Given the description of an element on the screen output the (x, y) to click on. 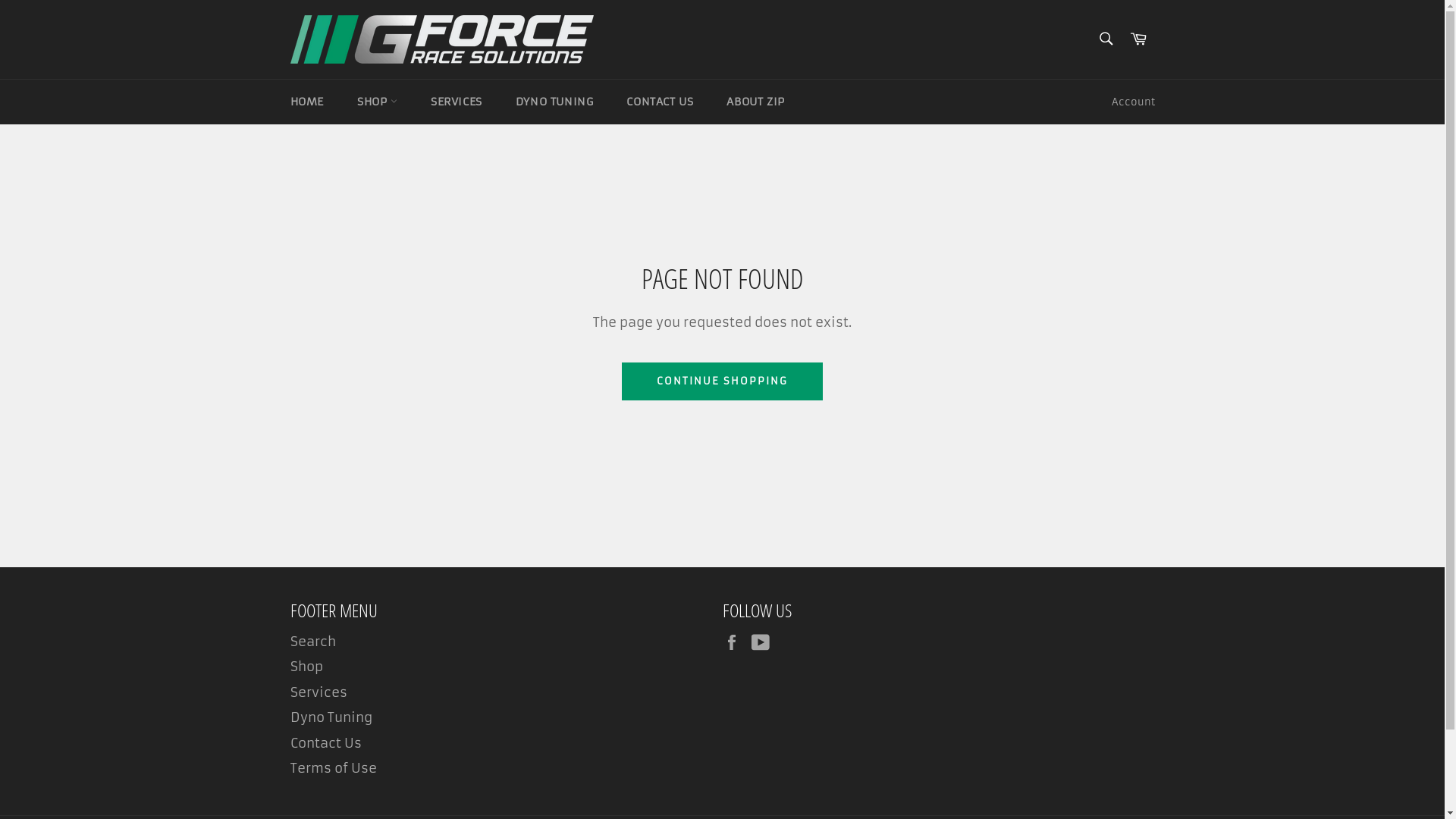
Search Element type: text (1105, 38)
CONTACT US Element type: text (659, 101)
CONTINUE SHOPPING Element type: text (721, 381)
Cart Element type: text (1138, 39)
SHOP Element type: text (377, 101)
Contact Us Element type: text (324, 742)
Facebook Element type: text (734, 642)
Terms of Use Element type: text (332, 767)
Dyno Tuning Element type: text (330, 717)
Account Element type: text (1133, 102)
Search Element type: text (312, 641)
YouTube Element type: text (763, 642)
ABOUT ZIP Element type: text (755, 101)
Shop Element type: text (305, 666)
DYNO TUNING Element type: text (554, 101)
HOME Element type: text (306, 101)
SERVICES Element type: text (456, 101)
Services Element type: text (317, 692)
